Given the description of an element on the screen output the (x, y) to click on. 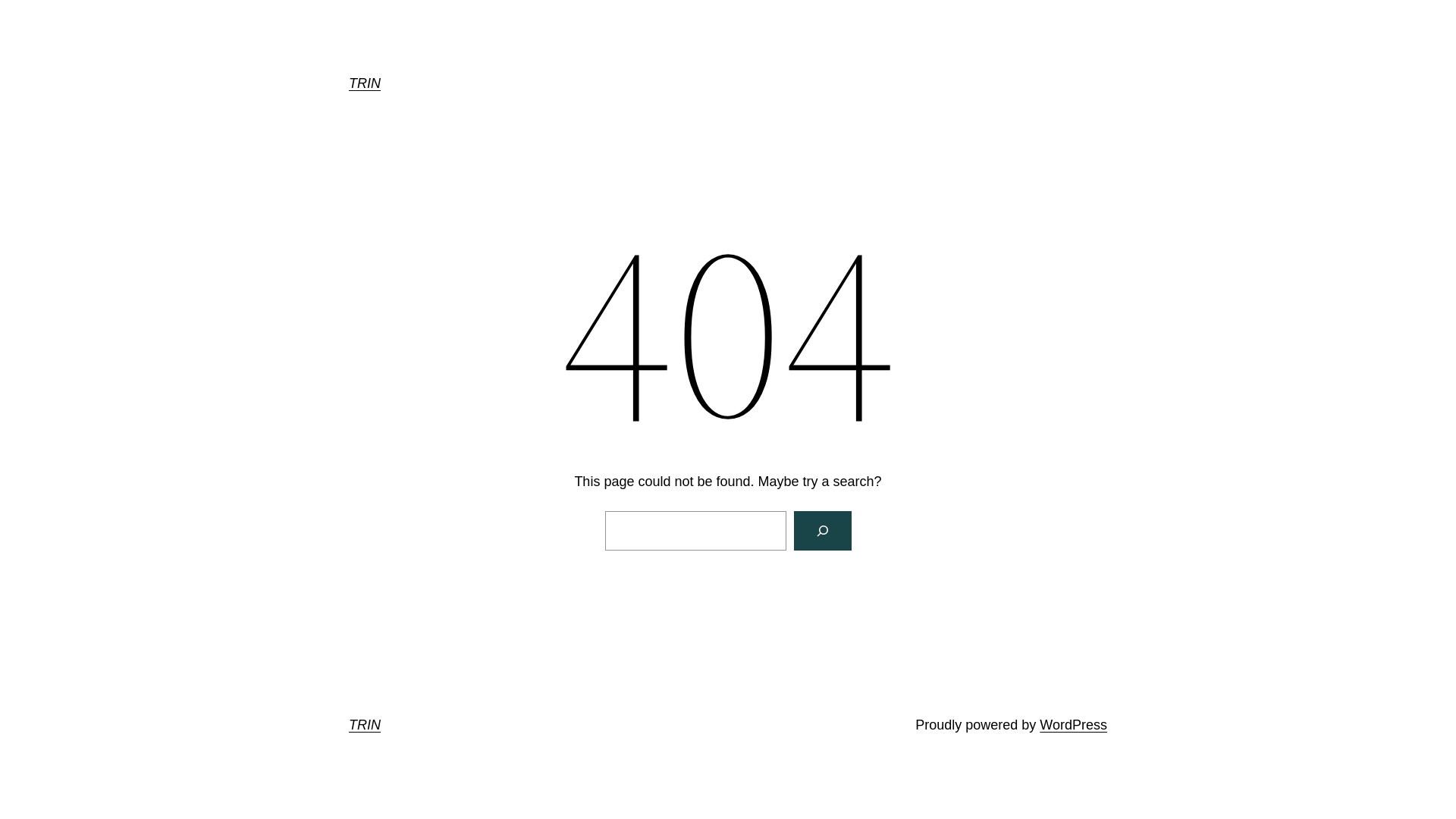
WordPress Element type: text (1073, 724)
TRIN Element type: text (364, 83)
TRIN Element type: text (364, 724)
